Given the description of an element on the screen output the (x, y) to click on. 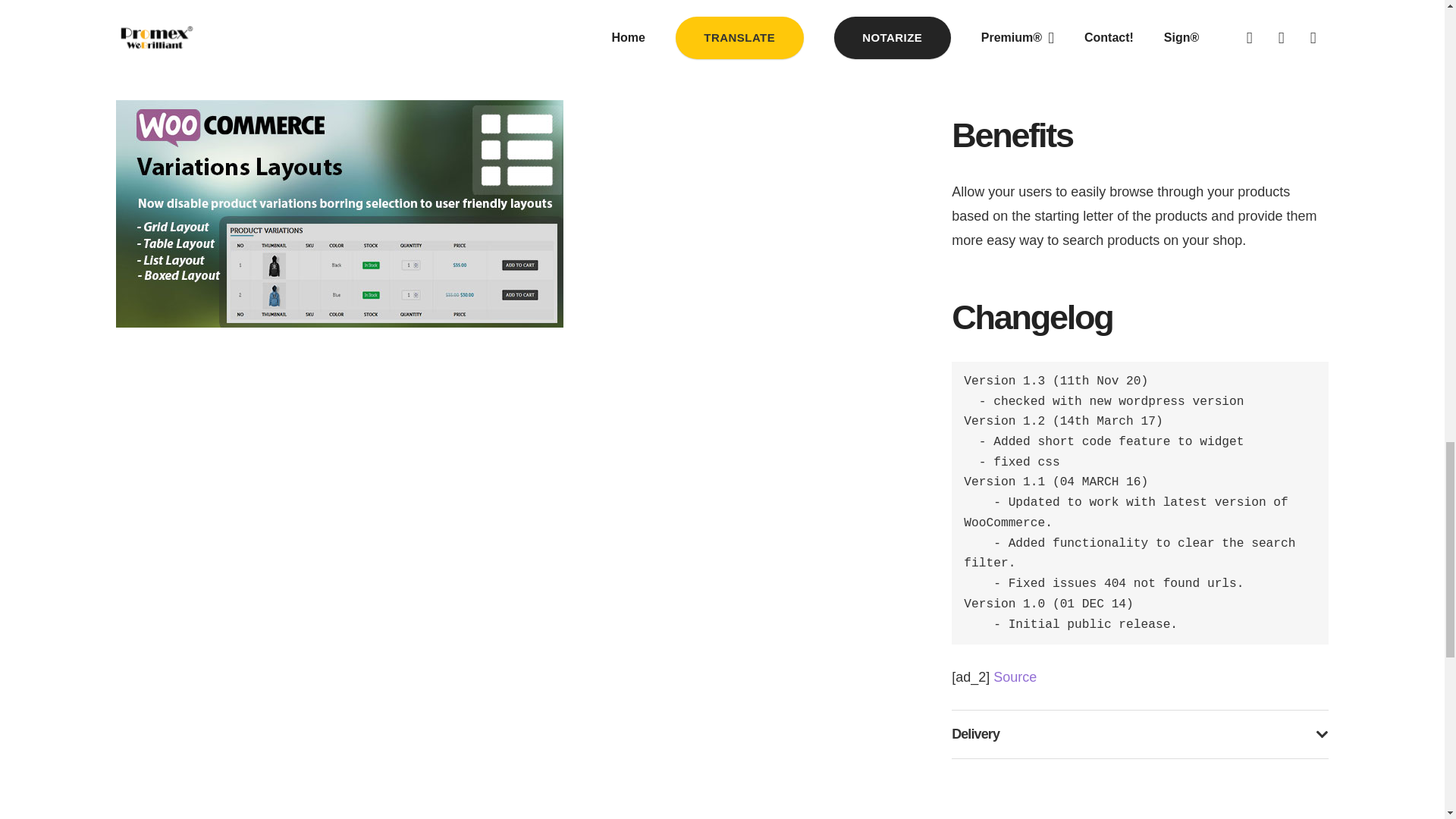
Delivery (1139, 734)
Source (1014, 676)
